Given the description of an element on the screen output the (x, y) to click on. 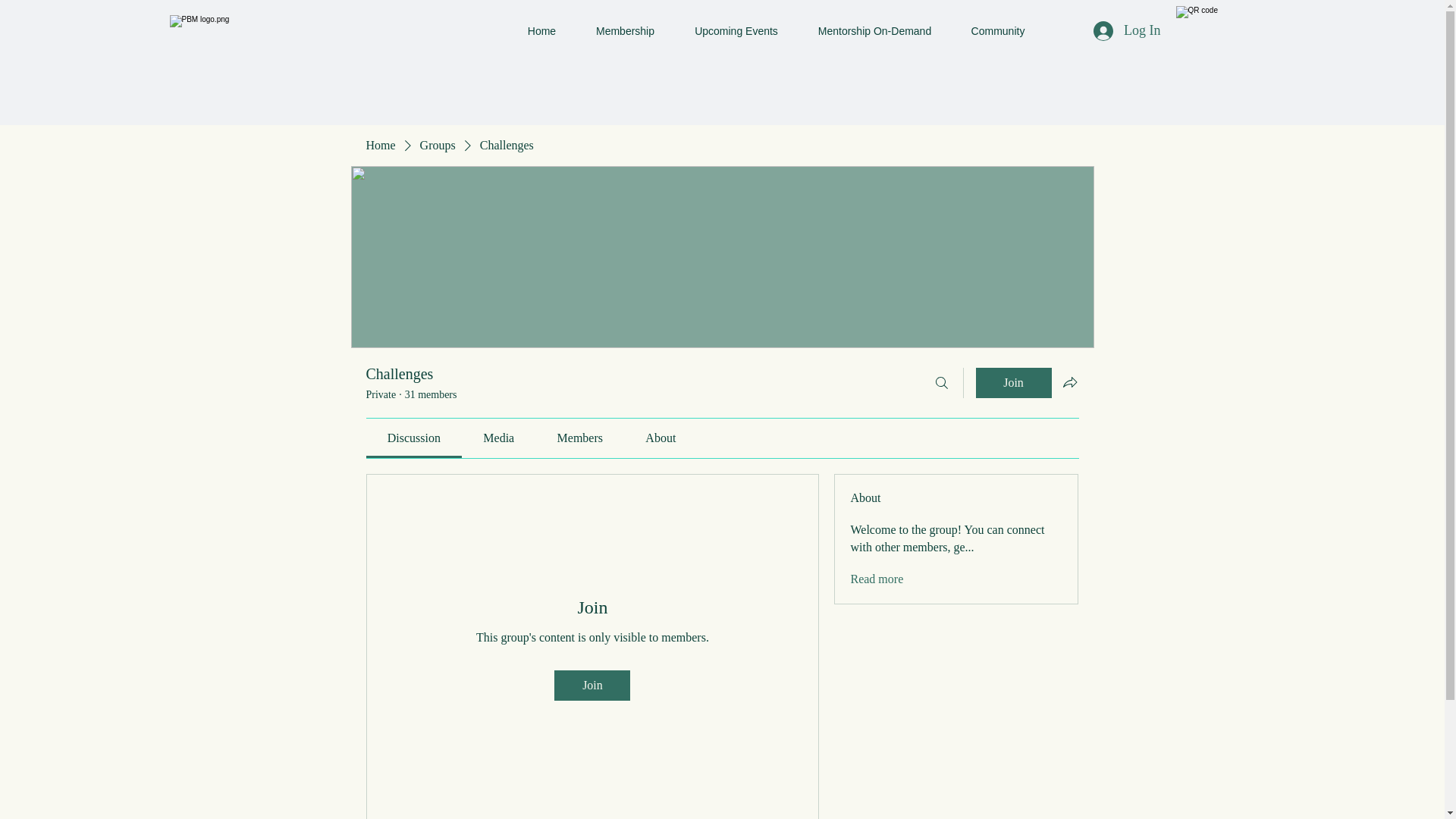
Upcoming Events (736, 30)
Read more (876, 579)
Log In (1127, 30)
Groups (437, 145)
Community (996, 30)
Mentorship On-Demand (873, 30)
Join (1013, 382)
Home (542, 30)
Join (592, 685)
Membership (625, 30)
